Given the description of an element on the screen output the (x, y) to click on. 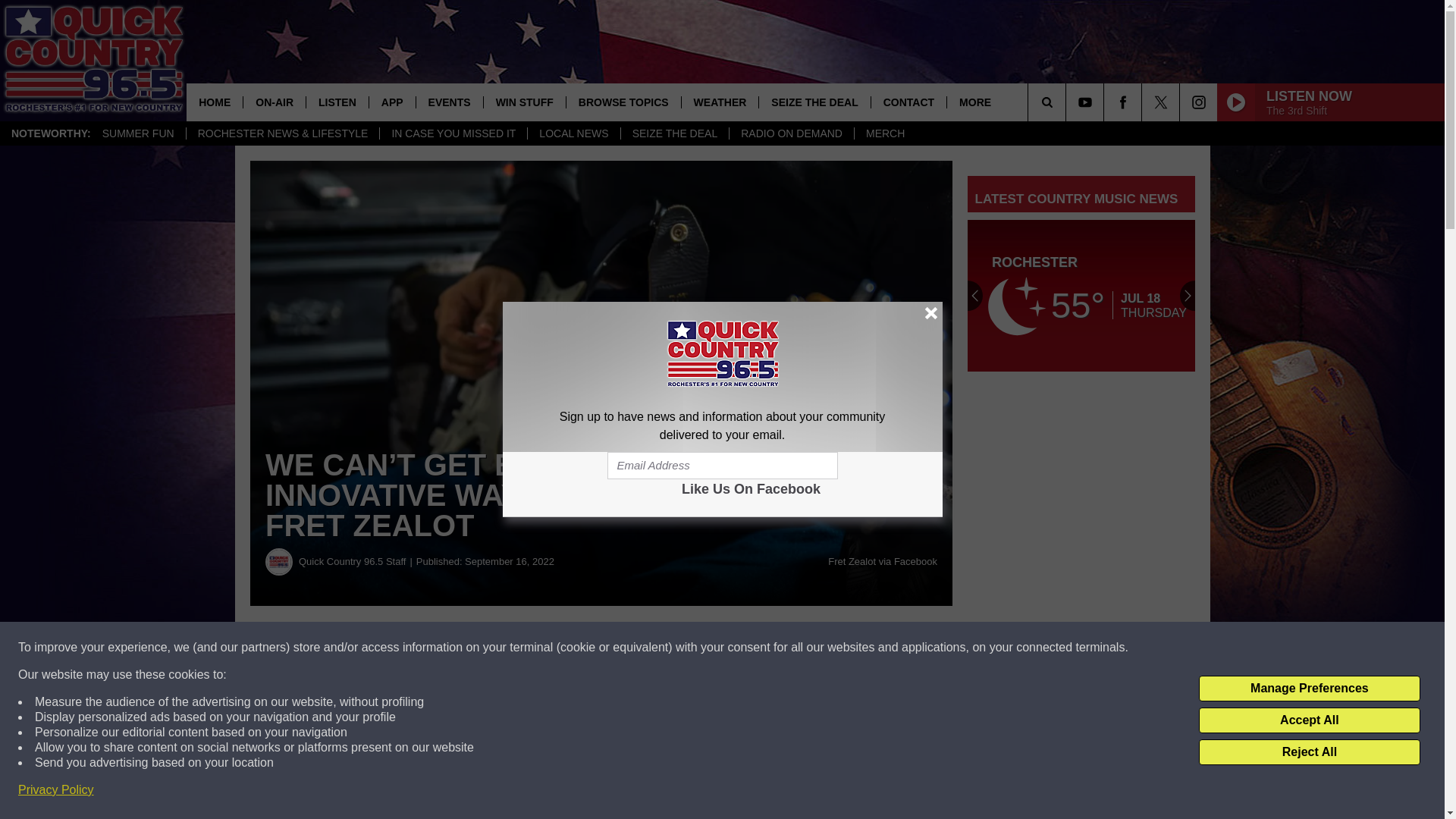
LISTEN (336, 102)
Reject All (1309, 751)
SUMMER FUN (138, 133)
Email Address (722, 465)
IN CASE YOU MISSED IT (452, 133)
SEIZE THE DEAL (674, 133)
RADIO ON DEMAND (791, 133)
APP (391, 102)
Privacy Policy (55, 789)
SEARCH (1068, 102)
Share on Twitter (741, 647)
ON-AIR (274, 102)
Share on Facebook (460, 647)
SEARCH (1068, 102)
MERCH (884, 133)
